Given the description of an element on the screen output the (x, y) to click on. 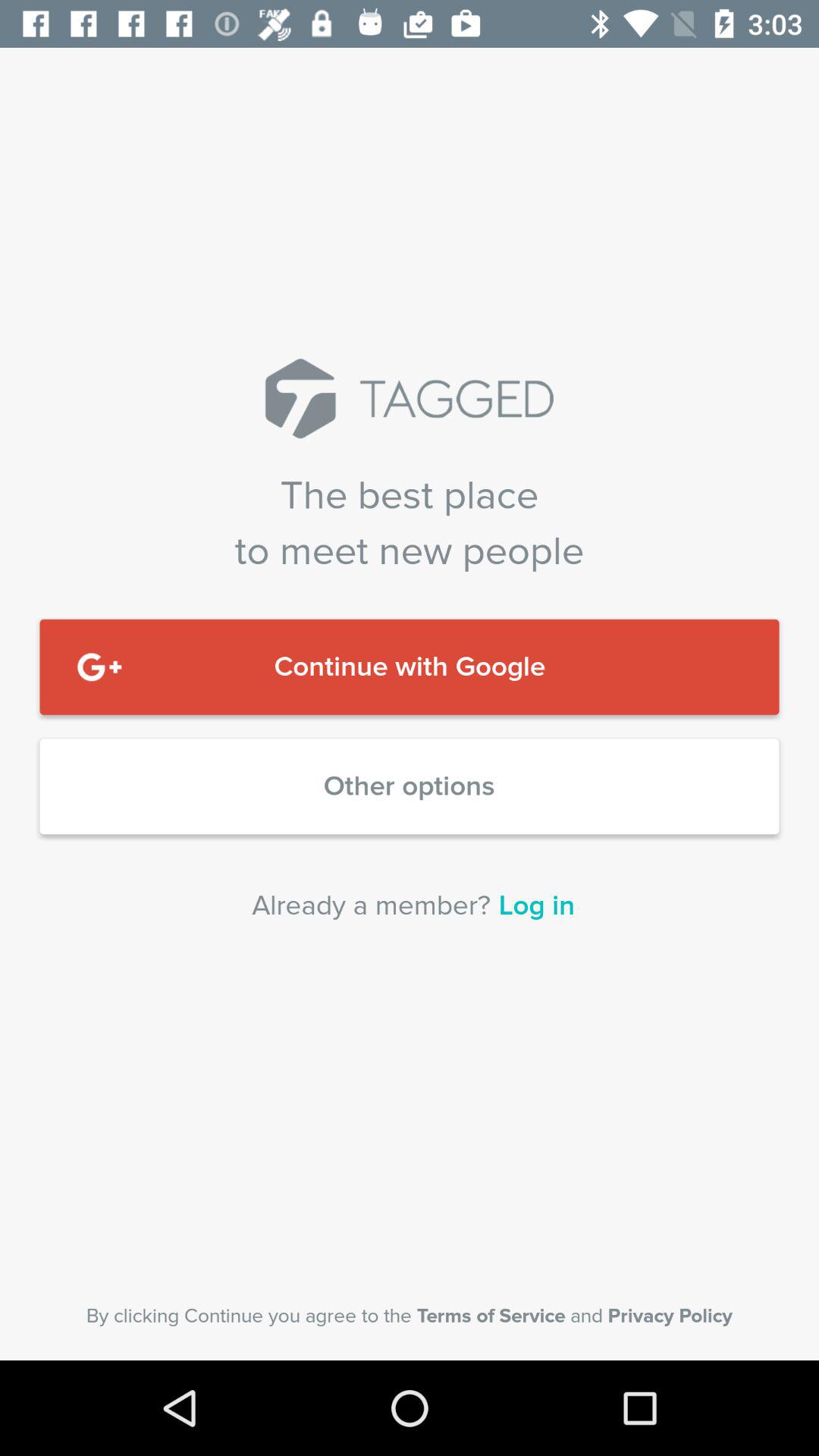
select the by clicking continue item (409, 1316)
